Given the description of an element on the screen output the (x, y) to click on. 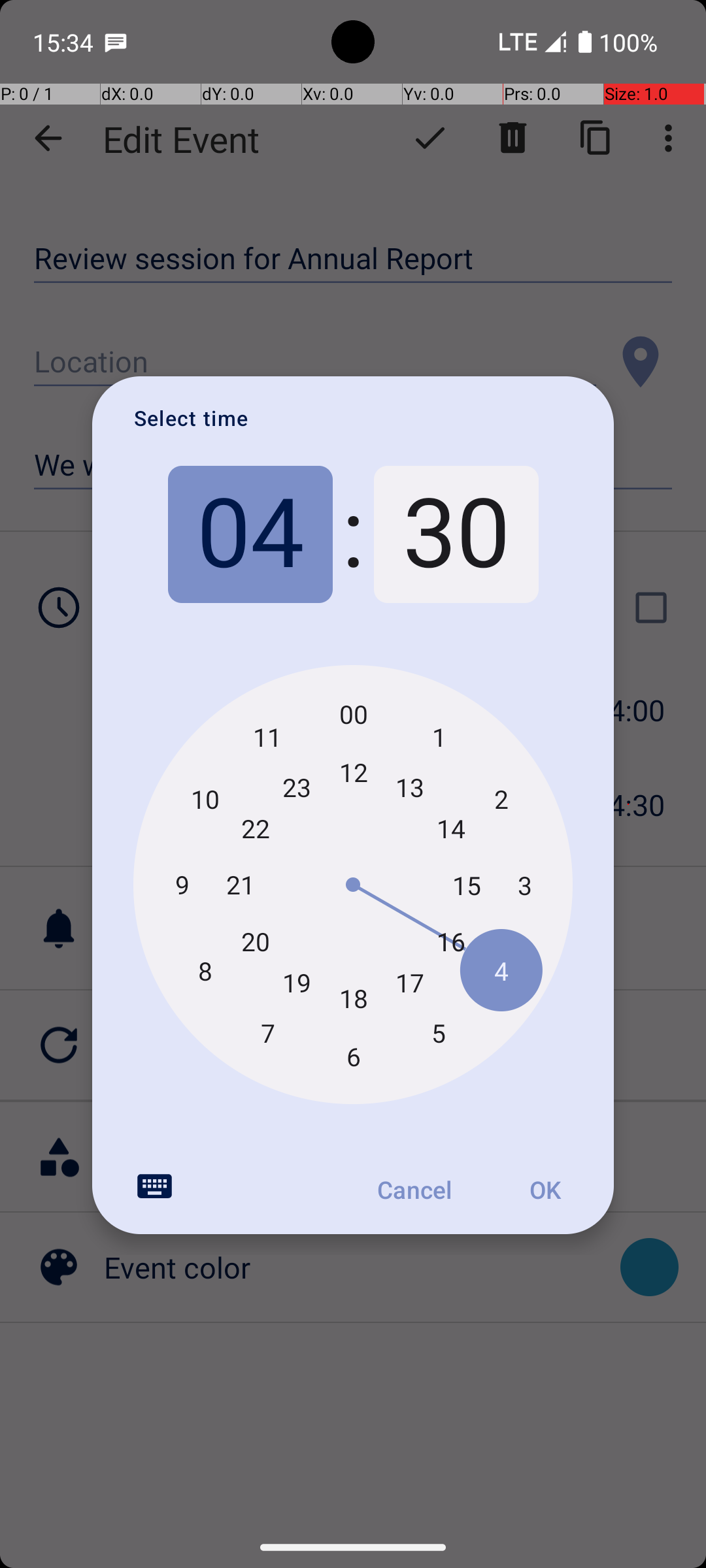
04 Element type: android.view.View (250, 534)
